Given the description of an element on the screen output the (x, y) to click on. 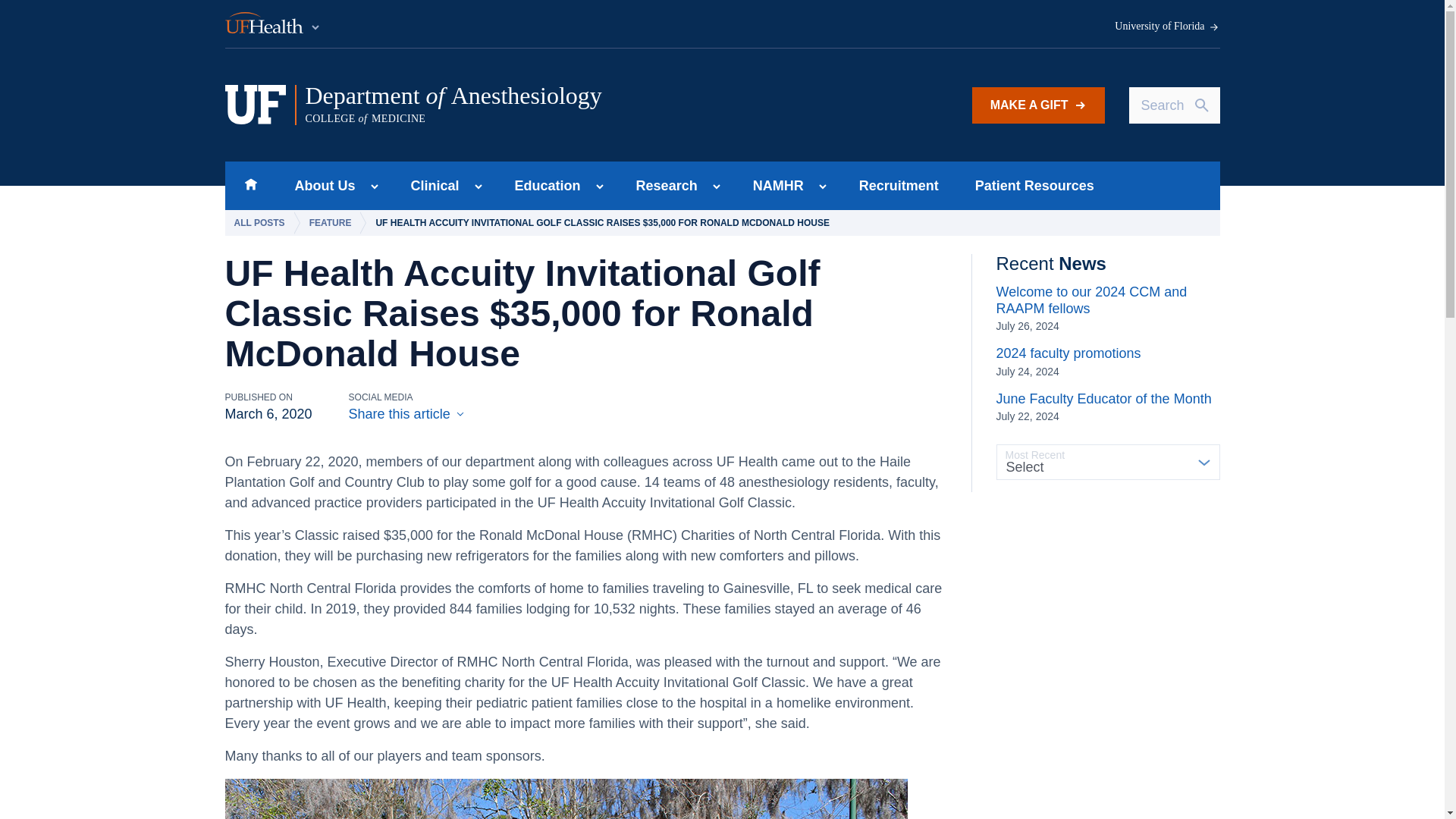
University of Florida (1167, 26)
MAKE A GIFT (1038, 104)
Home (515, 105)
Skip to main content (250, 185)
Skip to main content (272, 24)
About Us (430, 185)
